Given the description of an element on the screen output the (x, y) to click on. 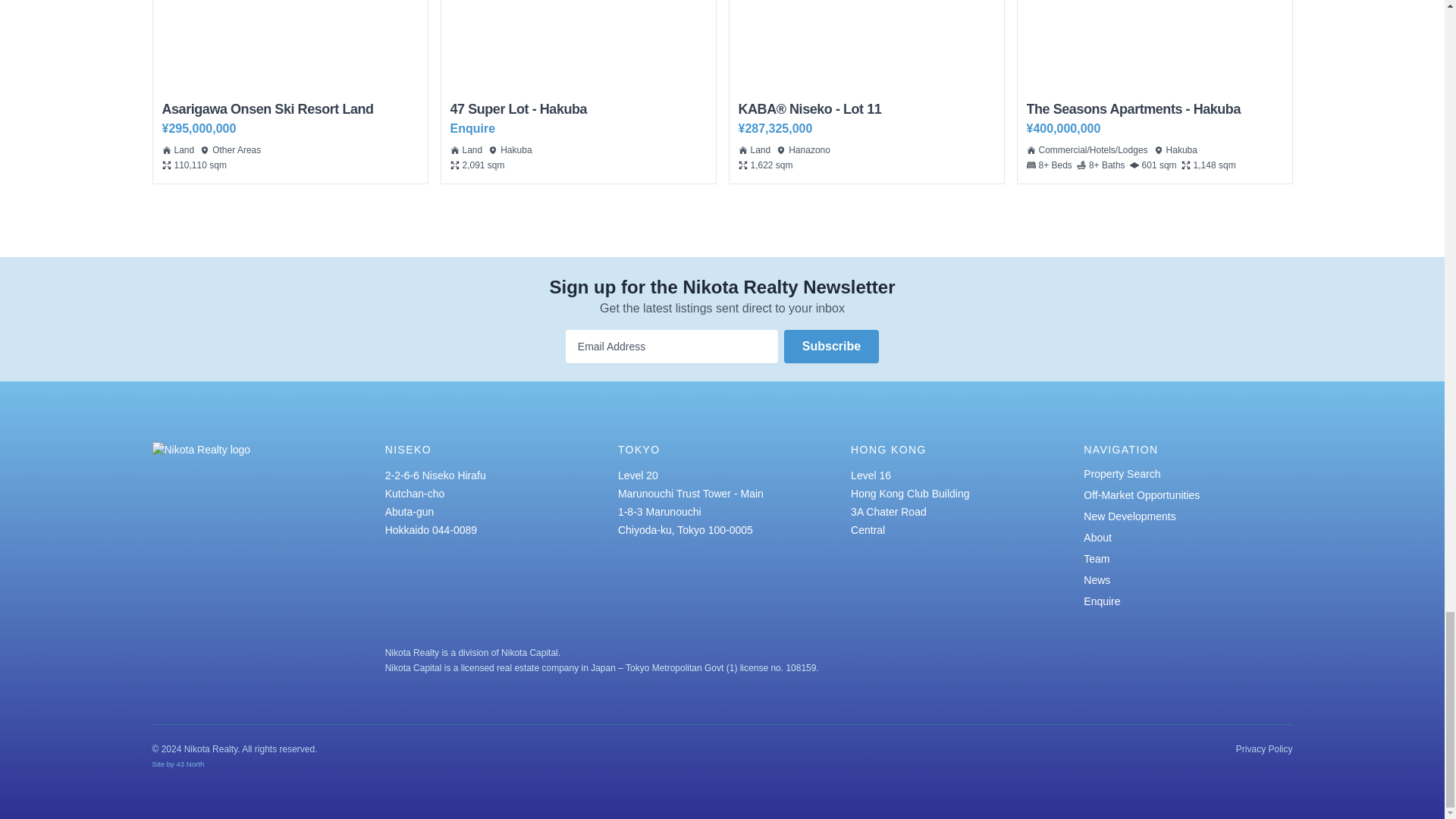
Subscribe (578, 91)
Off-Market Opportunities (831, 346)
Property Search (1141, 494)
